Given the description of an element on the screen output the (x, y) to click on. 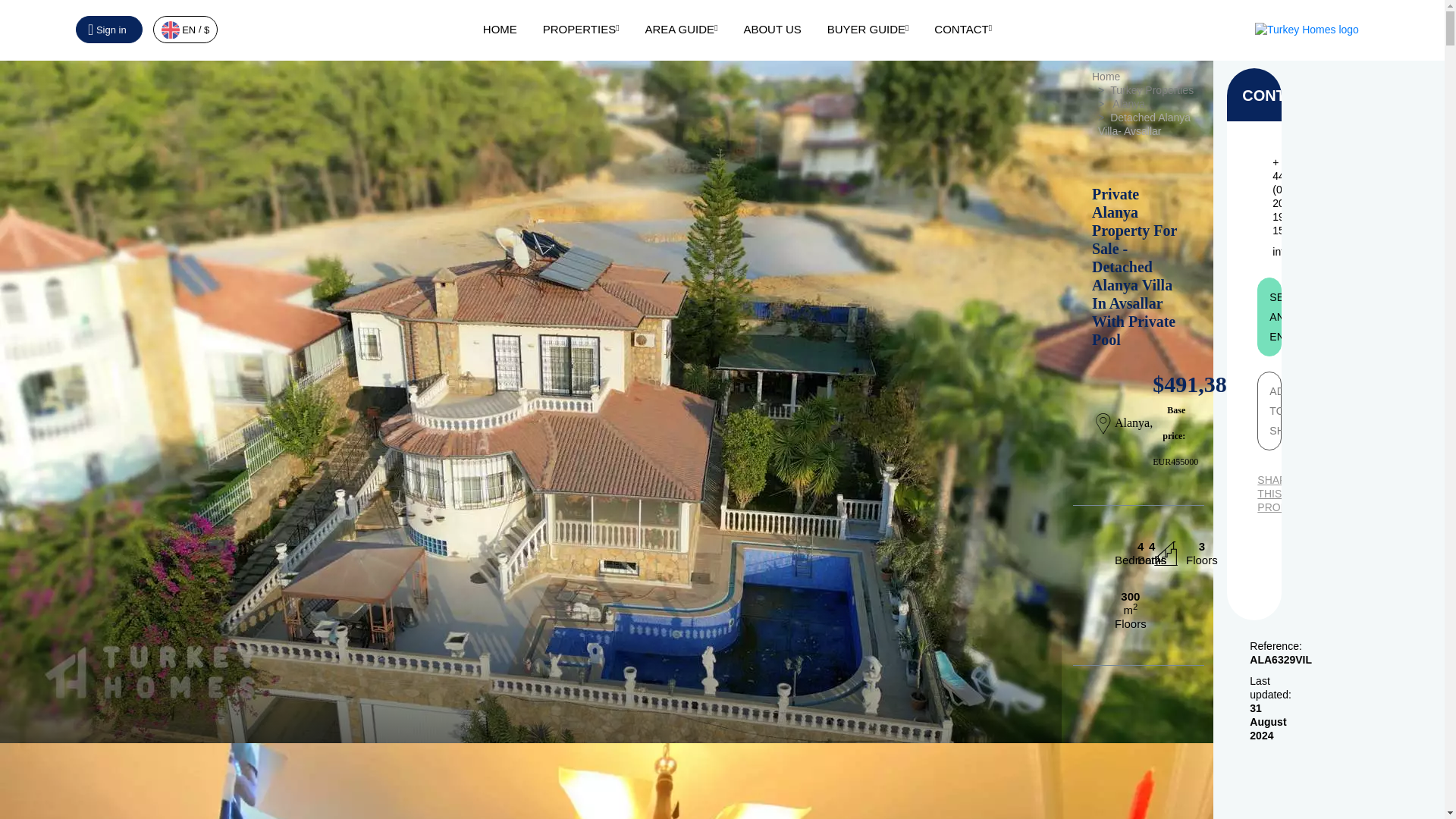
AREA GUIDE (681, 28)
Detached Alanya Villa- Villa Entrance (530, 780)
BUYER GUIDE (867, 28)
PROPERTIES (581, 28)
ABOUT US (771, 28)
HOME (499, 28)
Detached Alanya Villa- Villa Entrance (606, 780)
Sign in (108, 29)
